Given the description of an element on the screen output the (x, y) to click on. 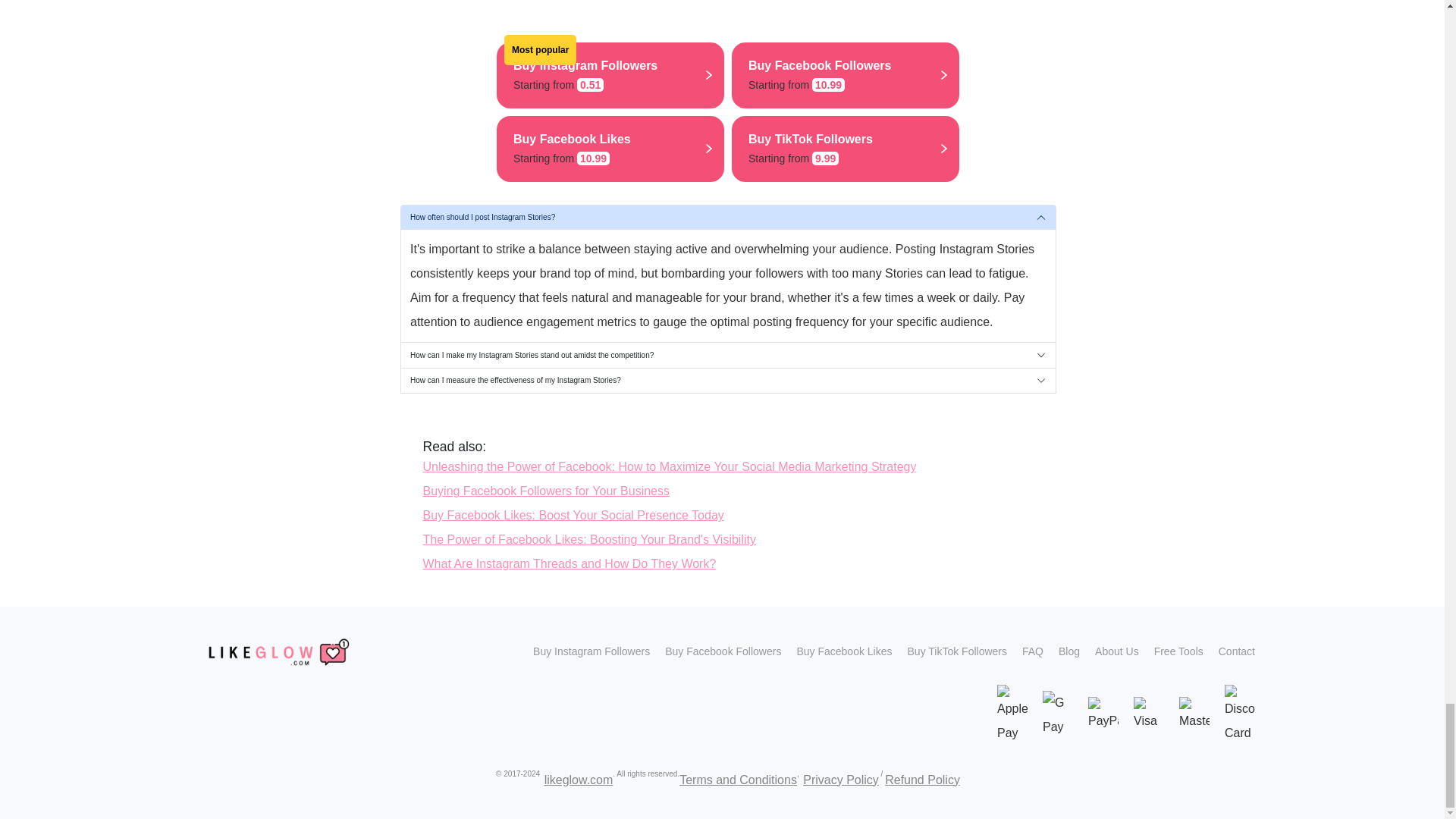
How can I measure the effectiveness of my Instagram Stories? (845, 75)
Buy Facebook Likes: Boost Your Social Presence Today (727, 380)
What Are Instagram Threads and How Do They Work?  (609, 148)
Buying Facebook Followers for Your Business (845, 148)
How often should I post Instagram Stories? (573, 514)
Buying Facebook Followers for Your Business  (569, 563)
